Given the description of an element on the screen output the (x, y) to click on. 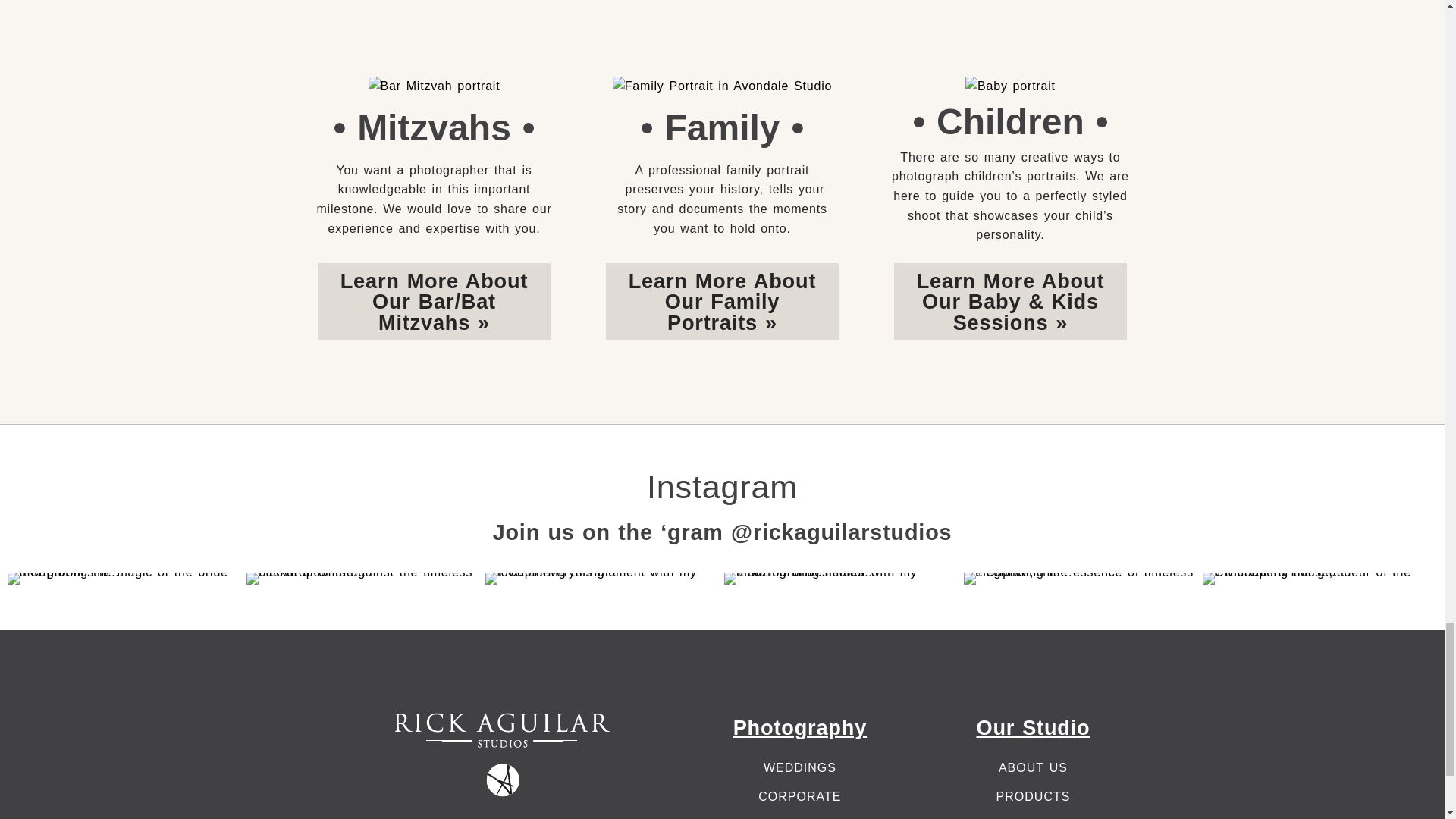
rickaguilarstudios-babies-min (1010, 86)
rickaguilarstudios-portraits-min (721, 86)
rickaguilarstudios-barmitzvah-min (434, 86)
